Given the description of an element on the screen output the (x, y) to click on. 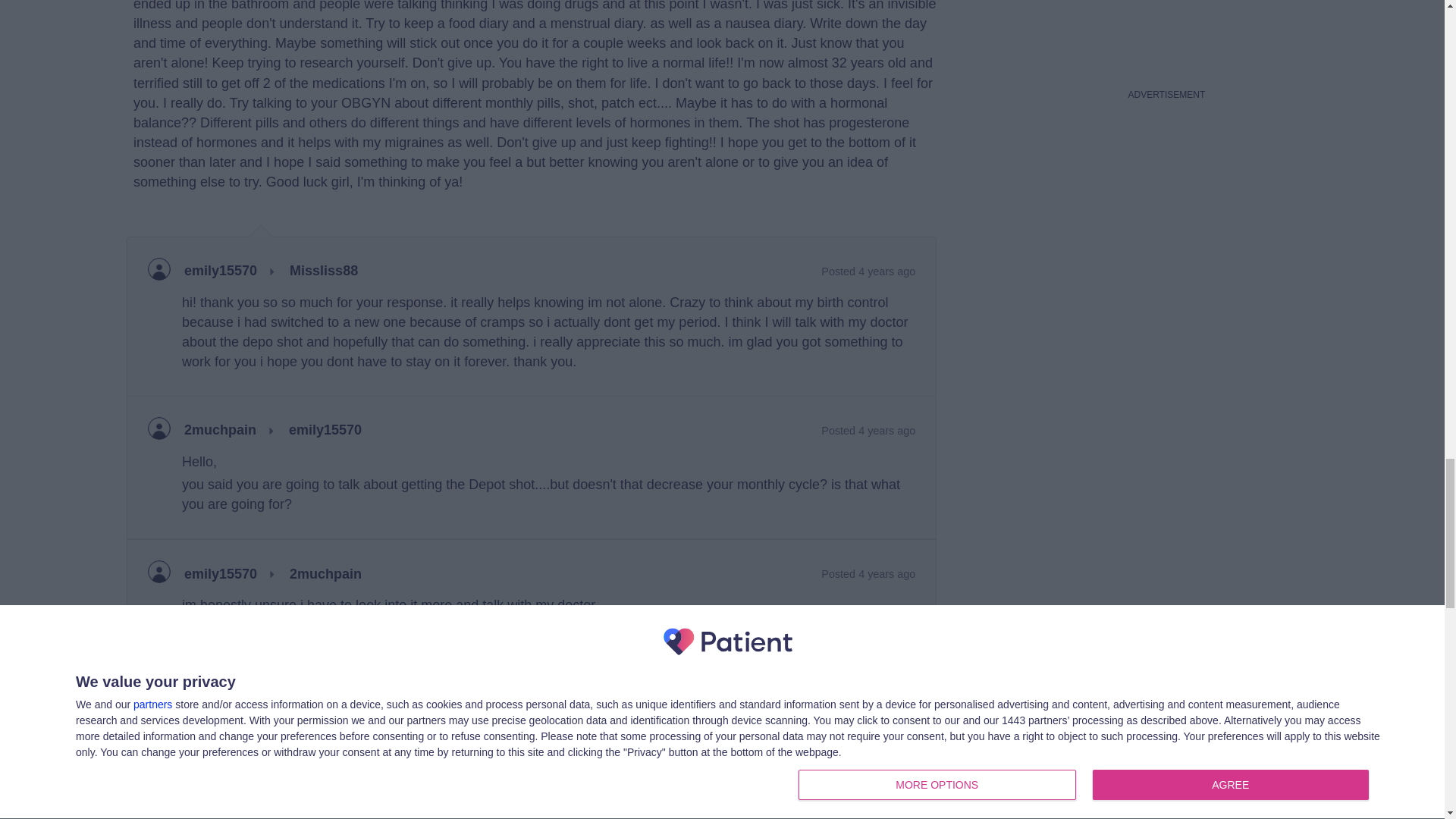
View emily15570's profile (220, 574)
View 2muchpain's profile (220, 430)
2muchpain (325, 574)
emily15570 (220, 574)
2muchpain (220, 430)
View emily15570's profile (220, 271)
emily15570 (324, 430)
Missliss88 (323, 271)
View emily15570's profile (165, 801)
emily15570 (220, 271)
emily15570 (165, 801)
